Given the description of an element on the screen output the (x, y) to click on. 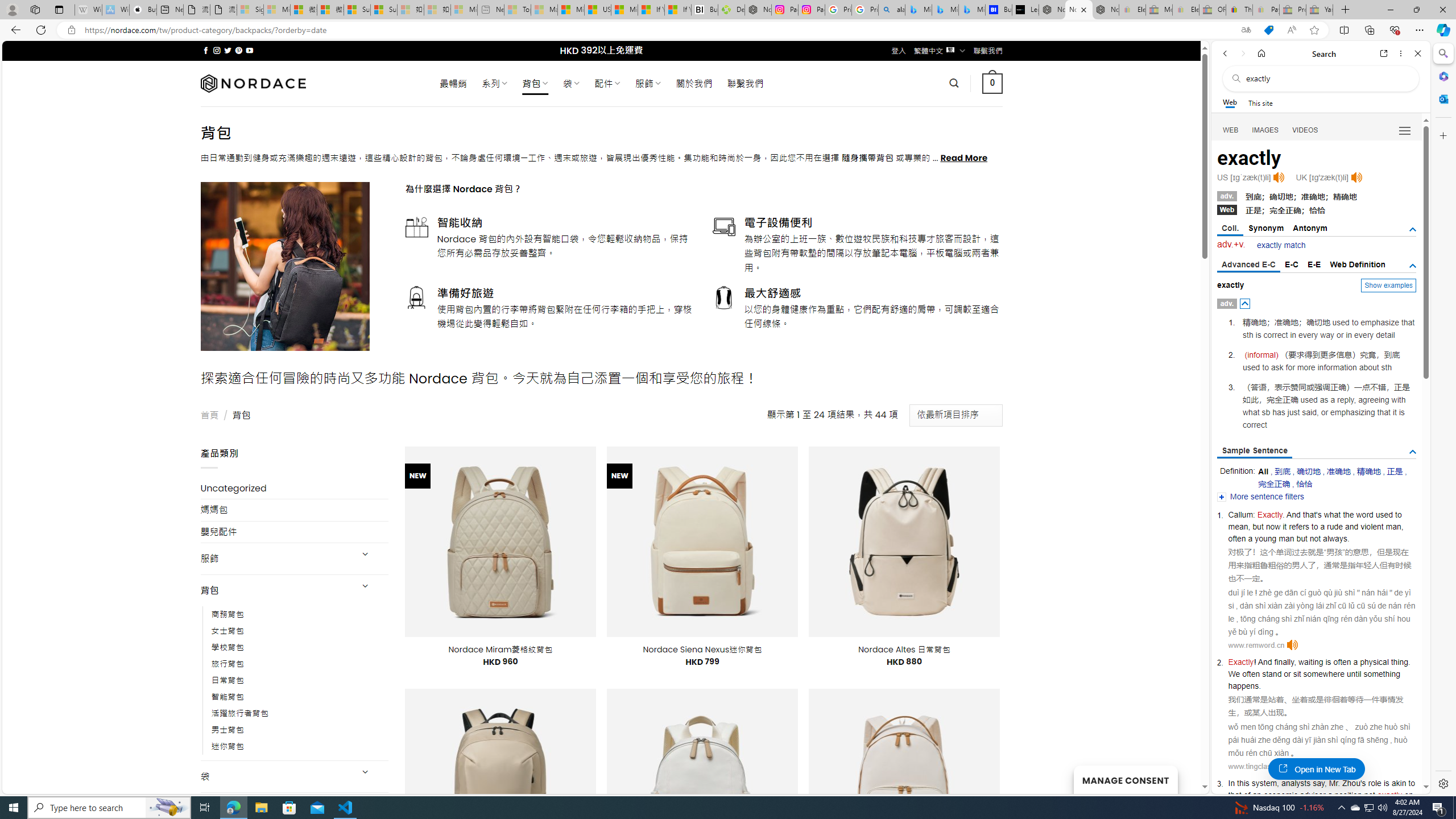
Follow on Facebook (205, 50)
economic (1280, 794)
but (1301, 537)
E-E (1314, 264)
not always (1327, 537)
